Given the description of an element on the screen output the (x, y) to click on. 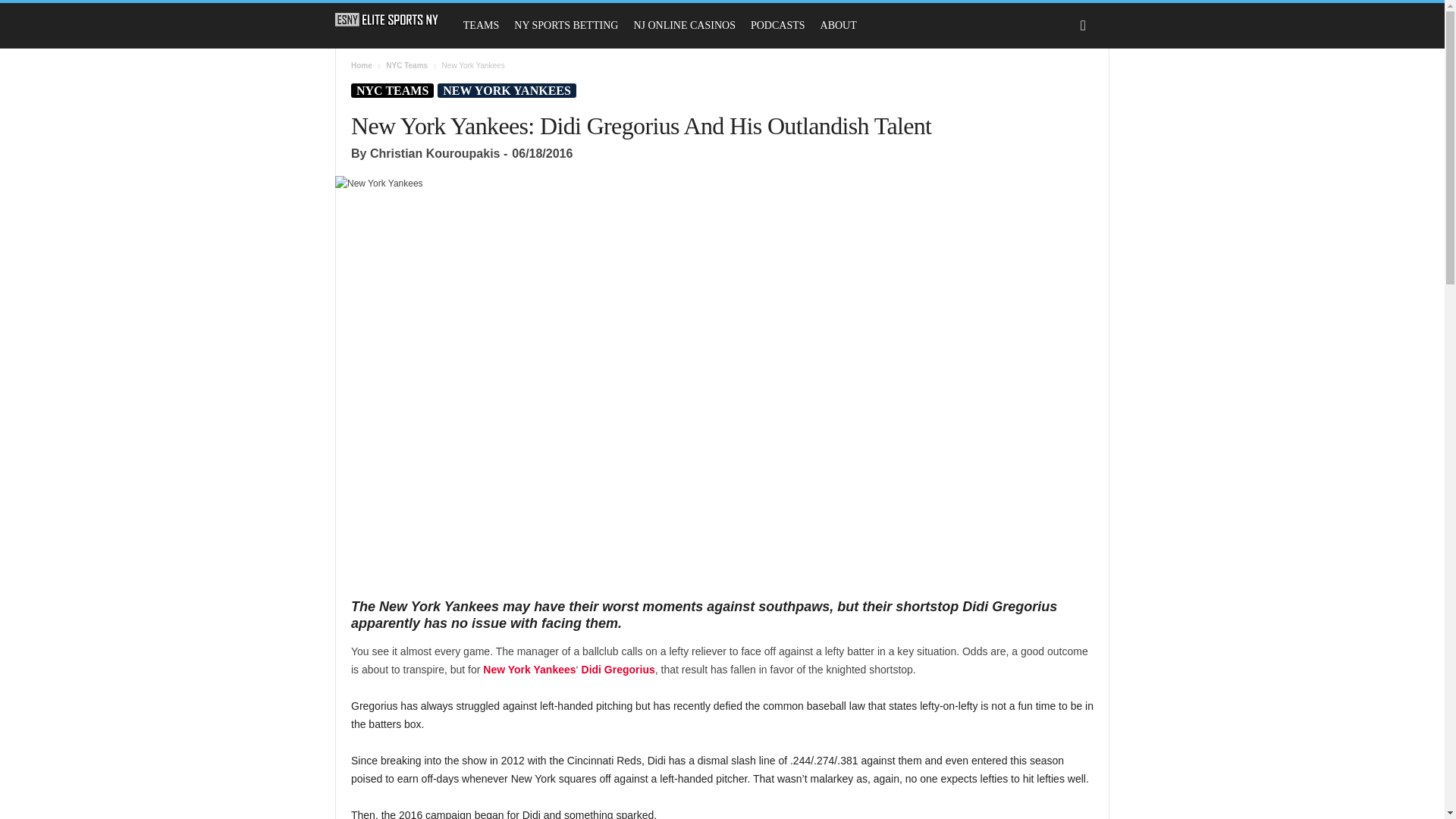
View all posts in NYC Teams (406, 65)
TEAMS (480, 25)
Elite Sports NY (394, 19)
Elite Sports NY (386, 19)
